Given the description of an element on the screen output the (x, y) to click on. 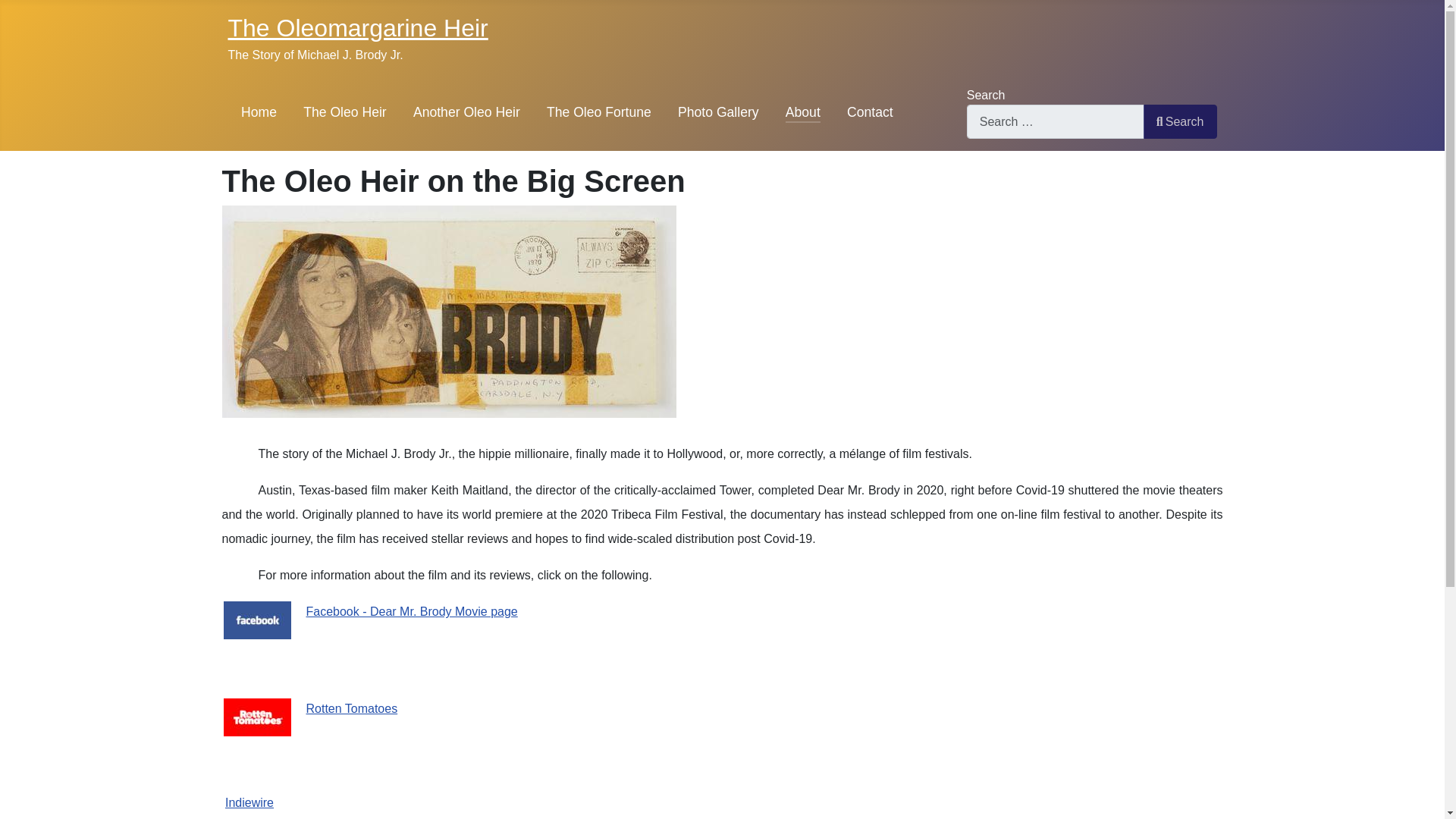
Search (1179, 121)
About (803, 112)
Indiewire (249, 802)
The Oleomargarine Heir (357, 27)
Photo Gallery (718, 112)
Facebook - Dear Mr. Brody Movie page (411, 611)
Rotten Tomatoes (351, 707)
The Oleomargarine Heir (357, 27)
Another Oleo Heir (466, 112)
The Oleo Fortune (598, 112)
Contact (870, 112)
Home (258, 112)
The Oleo Heir (344, 112)
